Given the description of an element on the screen output the (x, y) to click on. 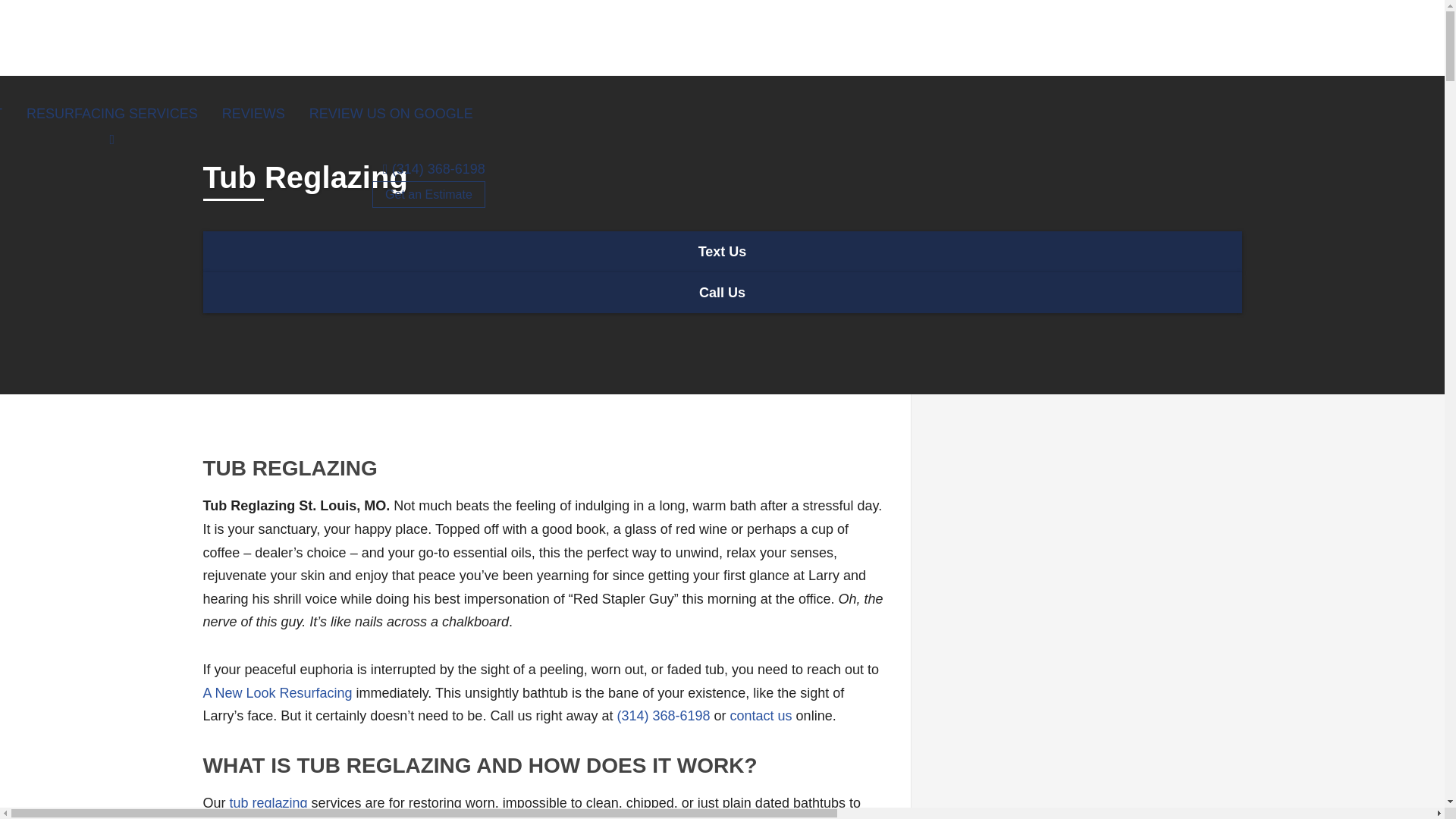
A New Look Resurfacing (277, 693)
Get an Estimate (428, 194)
REVIEW US ON GOOGLE (390, 113)
tub reglazing (268, 802)
REVIEWS (253, 113)
contact us (761, 715)
Text Us (722, 250)
Call Us (722, 291)
RESURFACING SERVICES (111, 113)
